Given the description of an element on the screen output the (x, y) to click on. 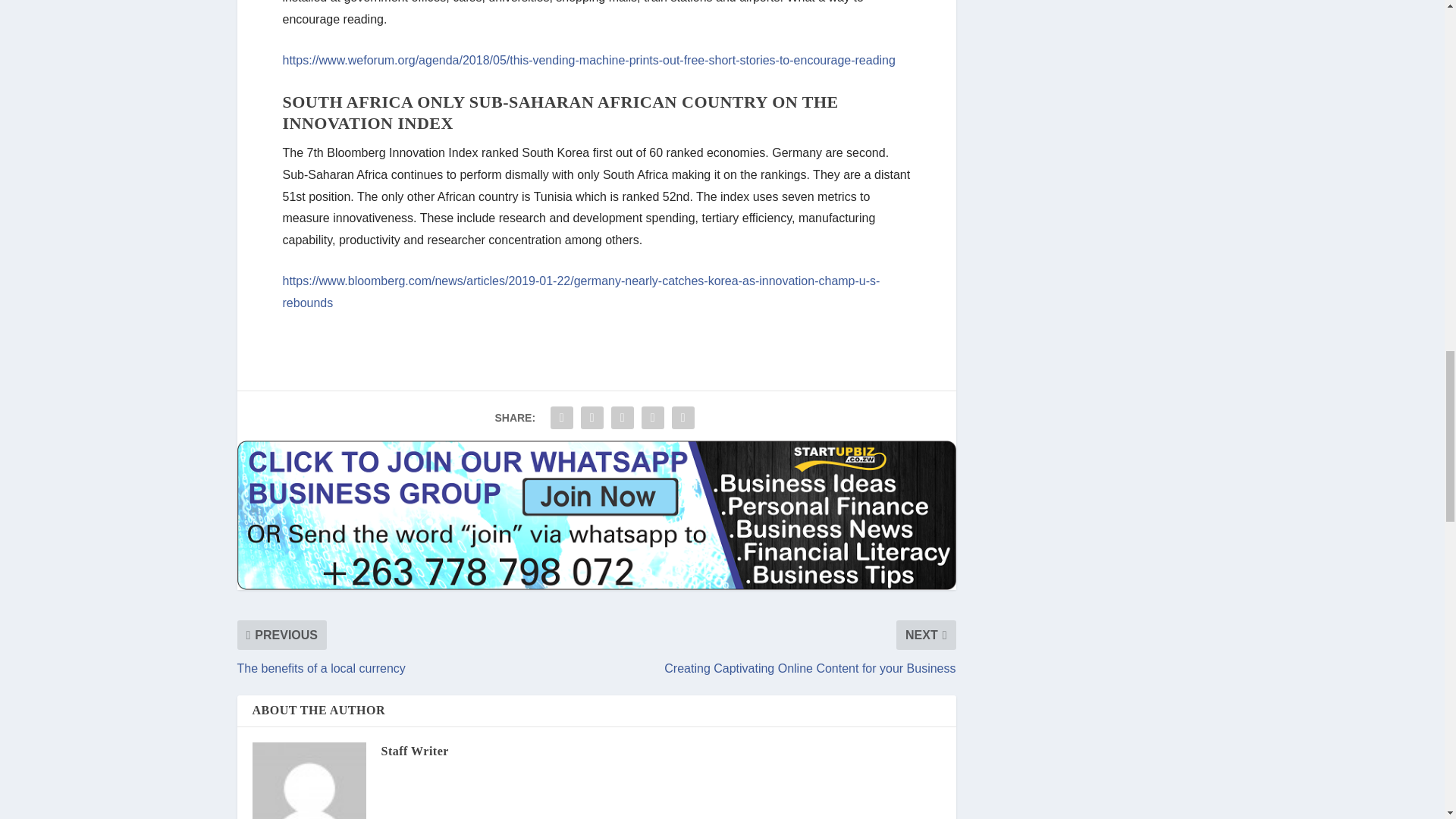
View all posts by Staff Writer (414, 750)
